Given the description of an element on the screen output the (x, y) to click on. 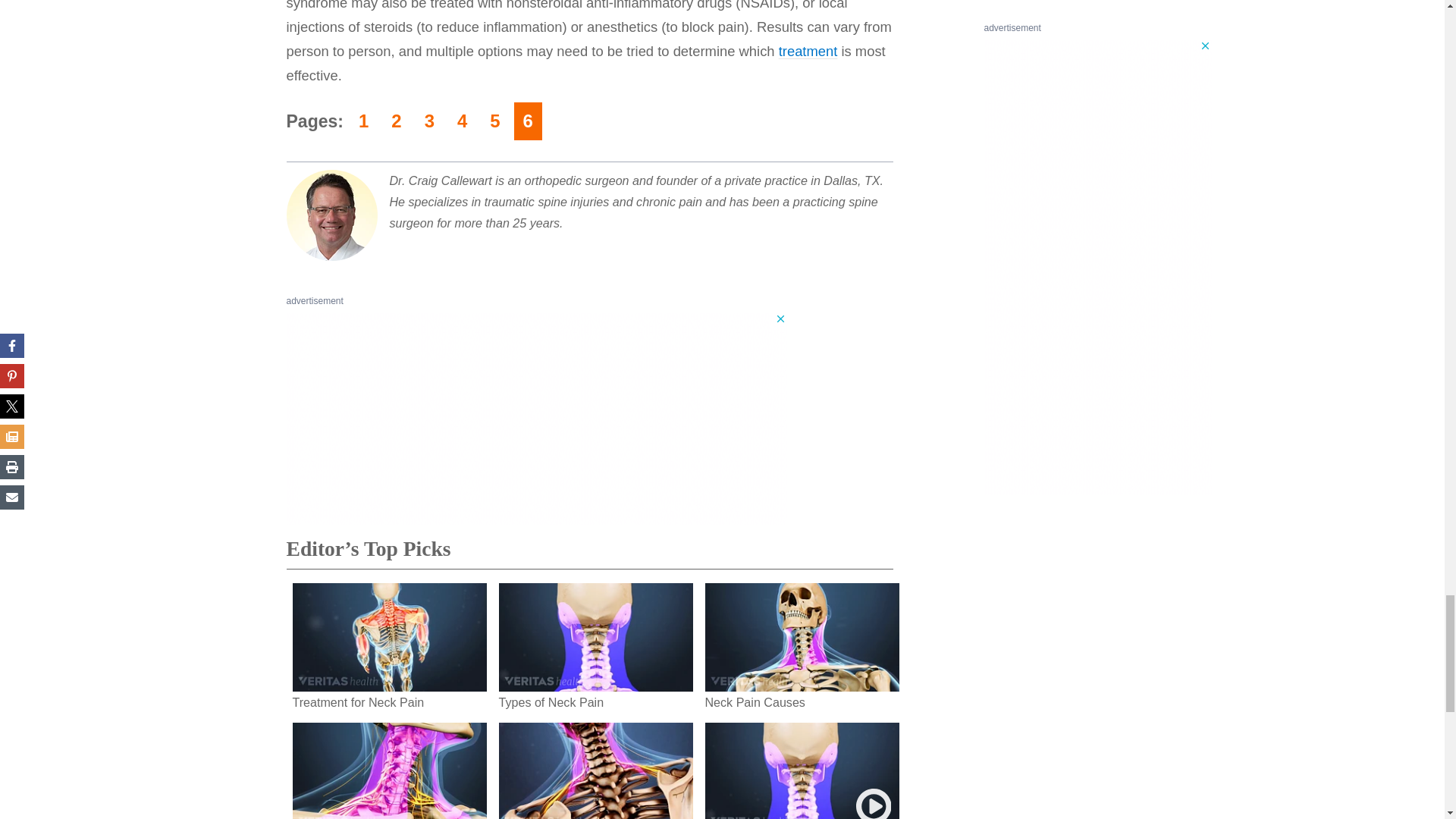
Treatment for Neck Pain (808, 50)
3rd party ad content (536, 418)
